Given the description of an element on the screen output the (x, y) to click on. 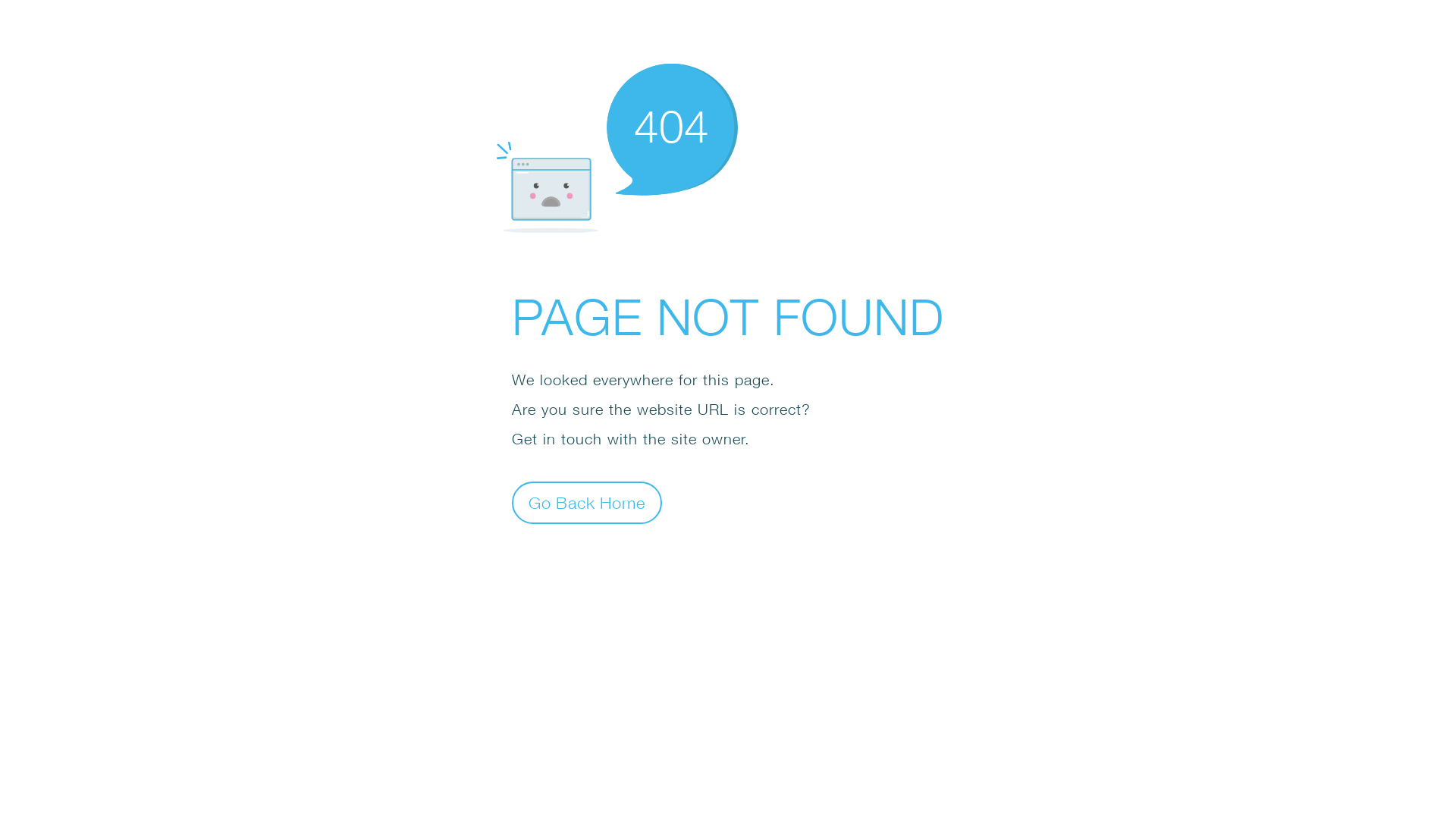
Go Back Home Element type: text (586, 502)
